Given the description of an element on the screen output the (x, y) to click on. 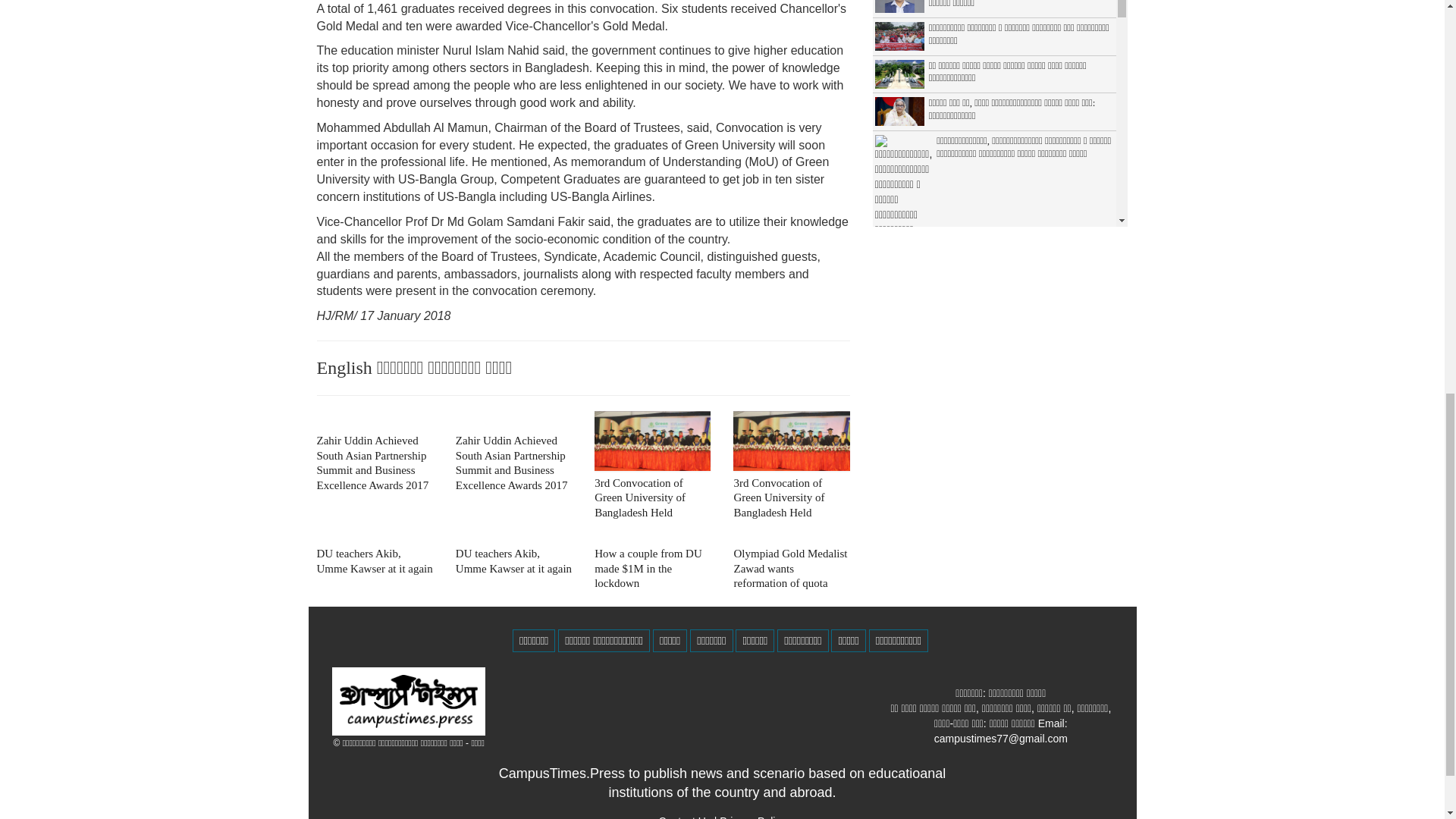
Twitter (752, 816)
Contact (685, 816)
